Given the description of an element on the screen output the (x, y) to click on. 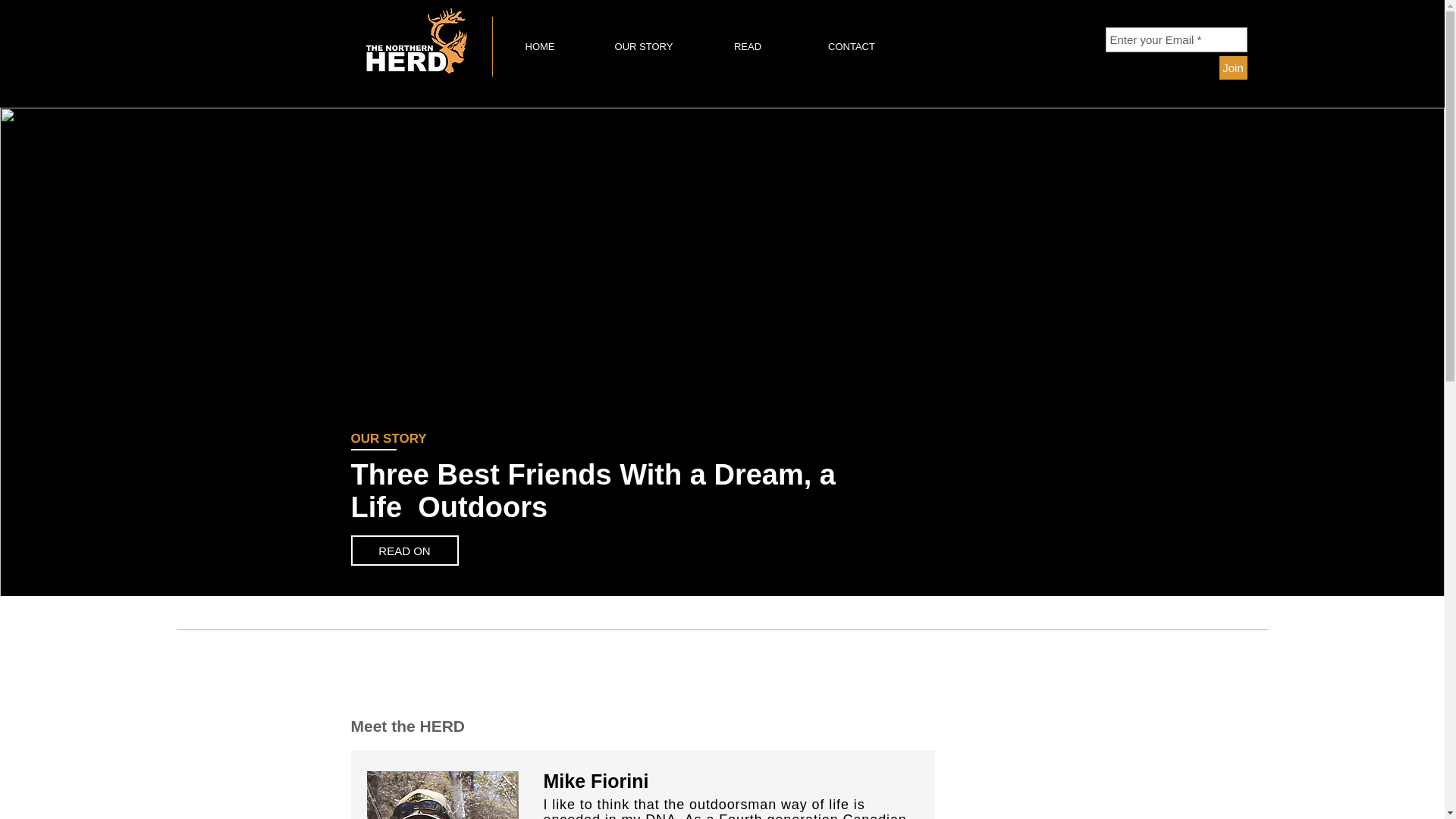
HOME (539, 46)
READ (747, 46)
OUR STORY (643, 46)
Join (1233, 67)
CONTACT (850, 46)
READ ON (404, 550)
